Given the description of an element on the screen output the (x, y) to click on. 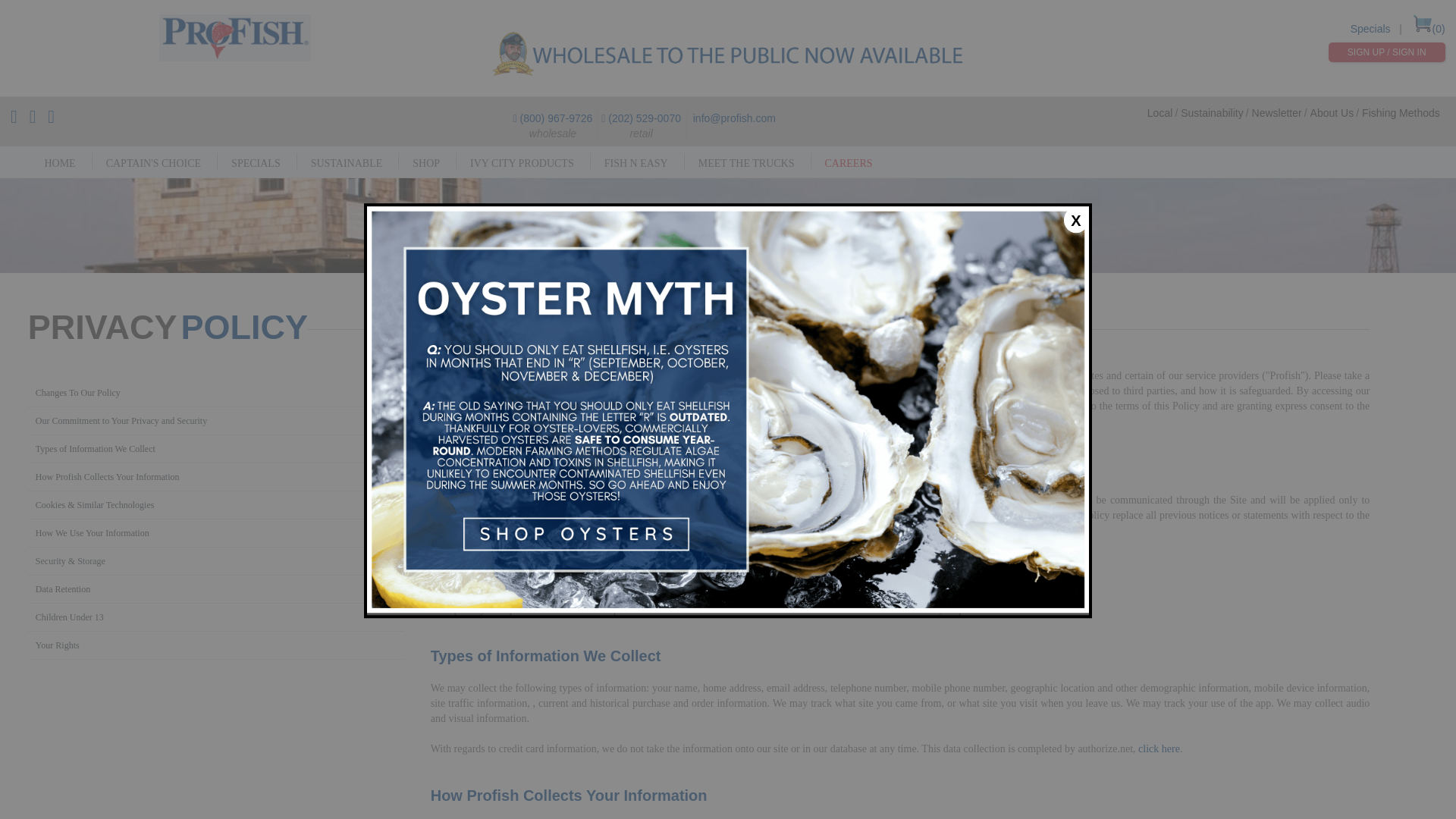
SHOP (425, 162)
Specials (1370, 28)
CAPTAIN'S CHOICE (152, 162)
SUSTAINABLE (346, 162)
About Us (1332, 112)
Fishing Methods (1400, 112)
Local (1159, 112)
FISH N EASY (635, 162)
Sustainability (1211, 112)
SPECIALS (255, 162)
Newsletter (1276, 112)
HOME (59, 162)
IVY CITY PRODUCTS (521, 162)
